Given the description of an element on the screen output the (x, y) to click on. 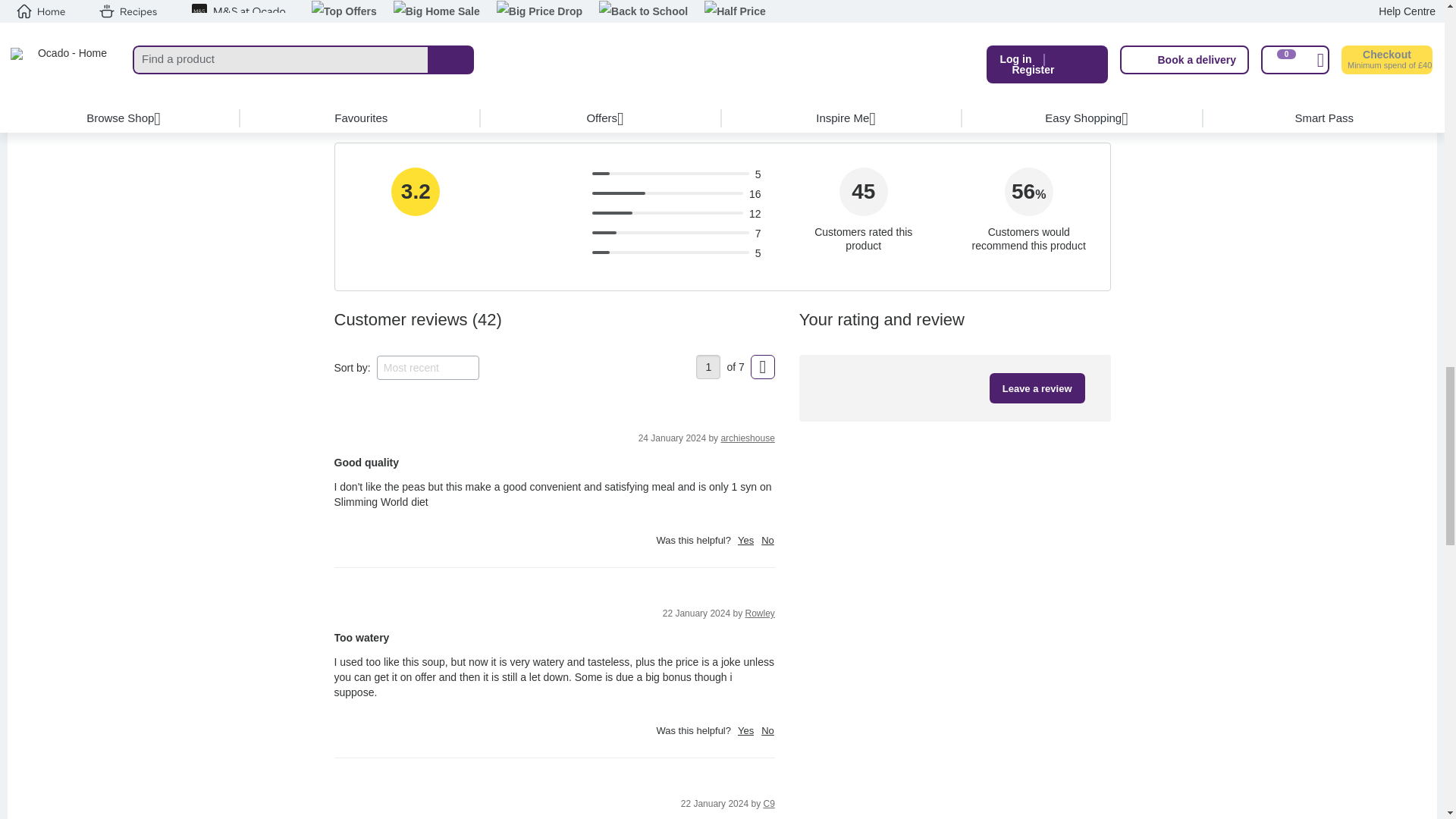
Reviews 0.8 of 5 (603, 232)
3 star reviews (563, 214)
4 star reviews (556, 194)
1 (707, 366)
2 star reviews (569, 234)
Reviews 0.6 of 5 (599, 173)
5 star reviews (550, 174)
Reviews 1.8 of 5 (618, 192)
Reviews 1.3 of 5 (611, 212)
